Given the description of an element on the screen output the (x, y) to click on. 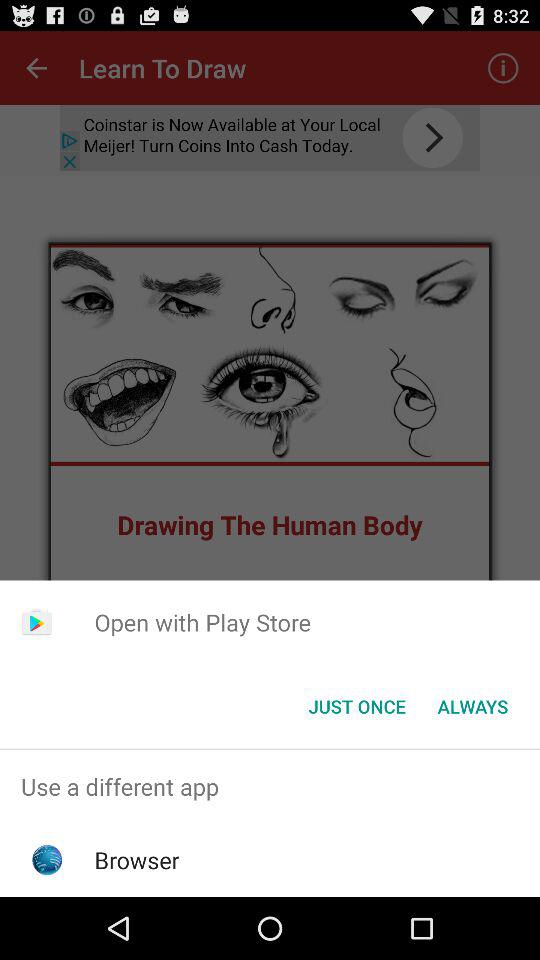
press the item below open with play app (472, 706)
